Given the description of an element on the screen output the (x, y) to click on. 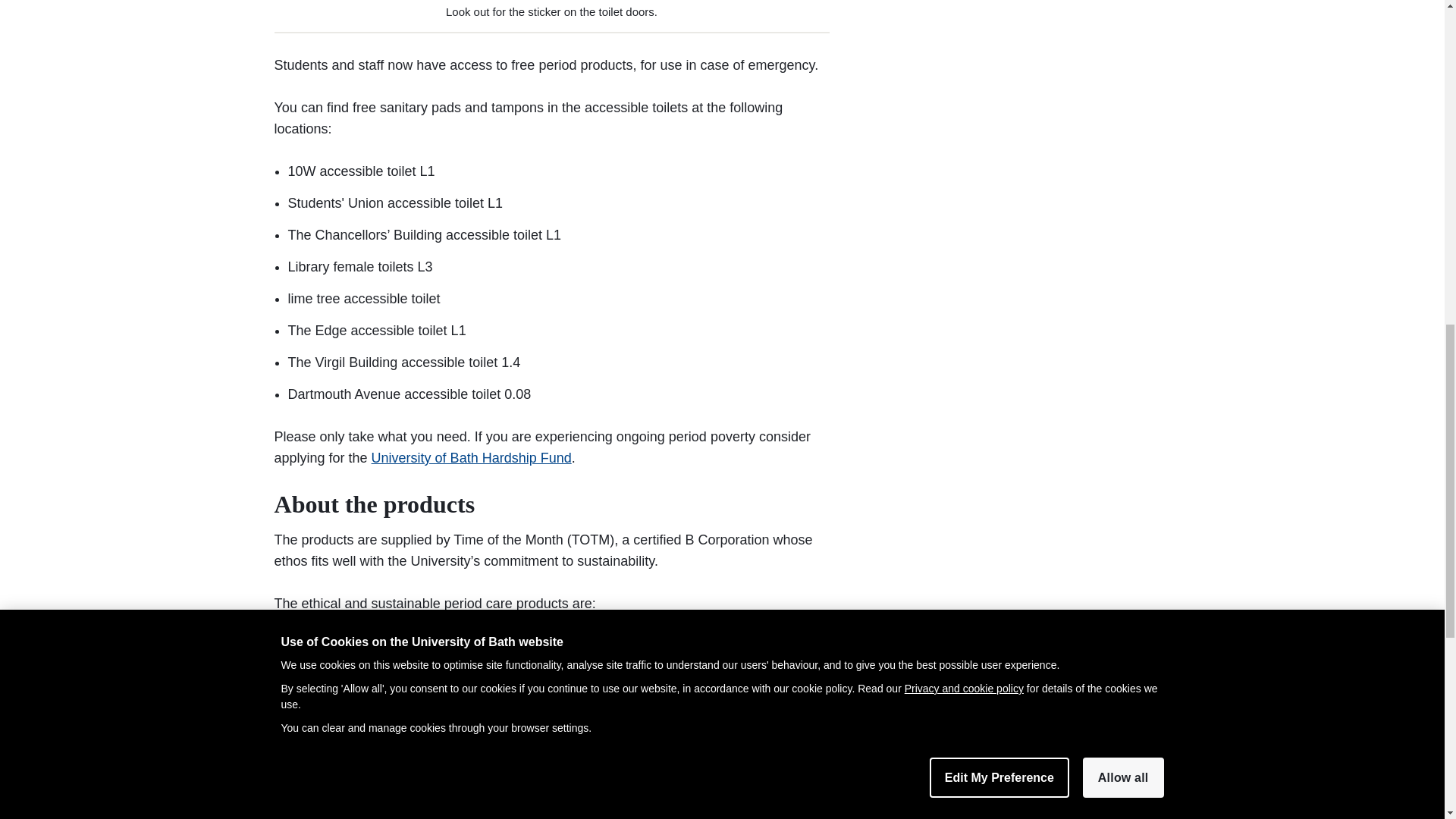
University of Bath Hardship Fund (471, 458)
